Given the description of an element on the screen output the (x, y) to click on. 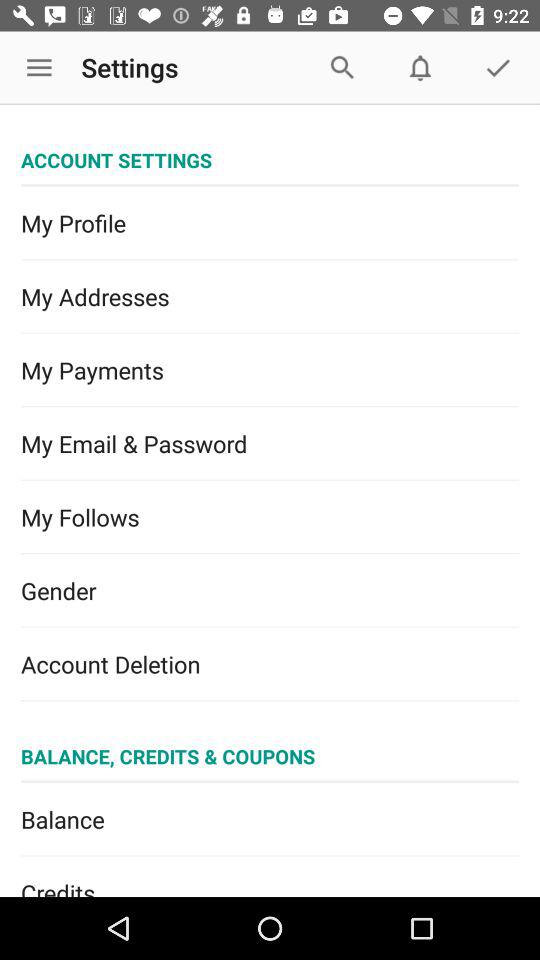
launch the icon above my payments item (270, 296)
